Given the description of an element on the screen output the (x, y) to click on. 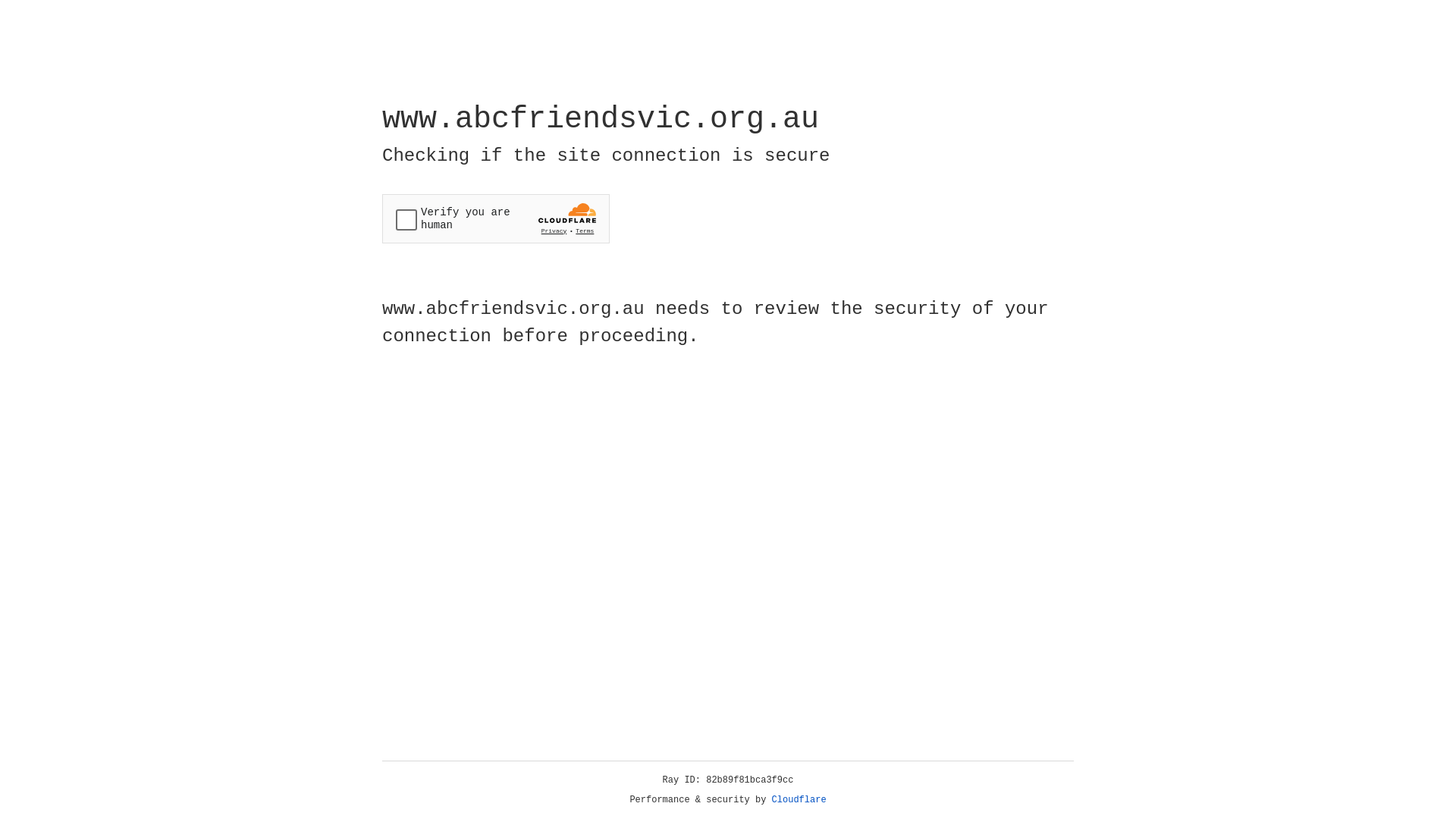
Widget containing a Cloudflare security challenge Element type: hover (495, 218)
Cloudflare Element type: text (798, 799)
